Given the description of an element on the screen output the (x, y) to click on. 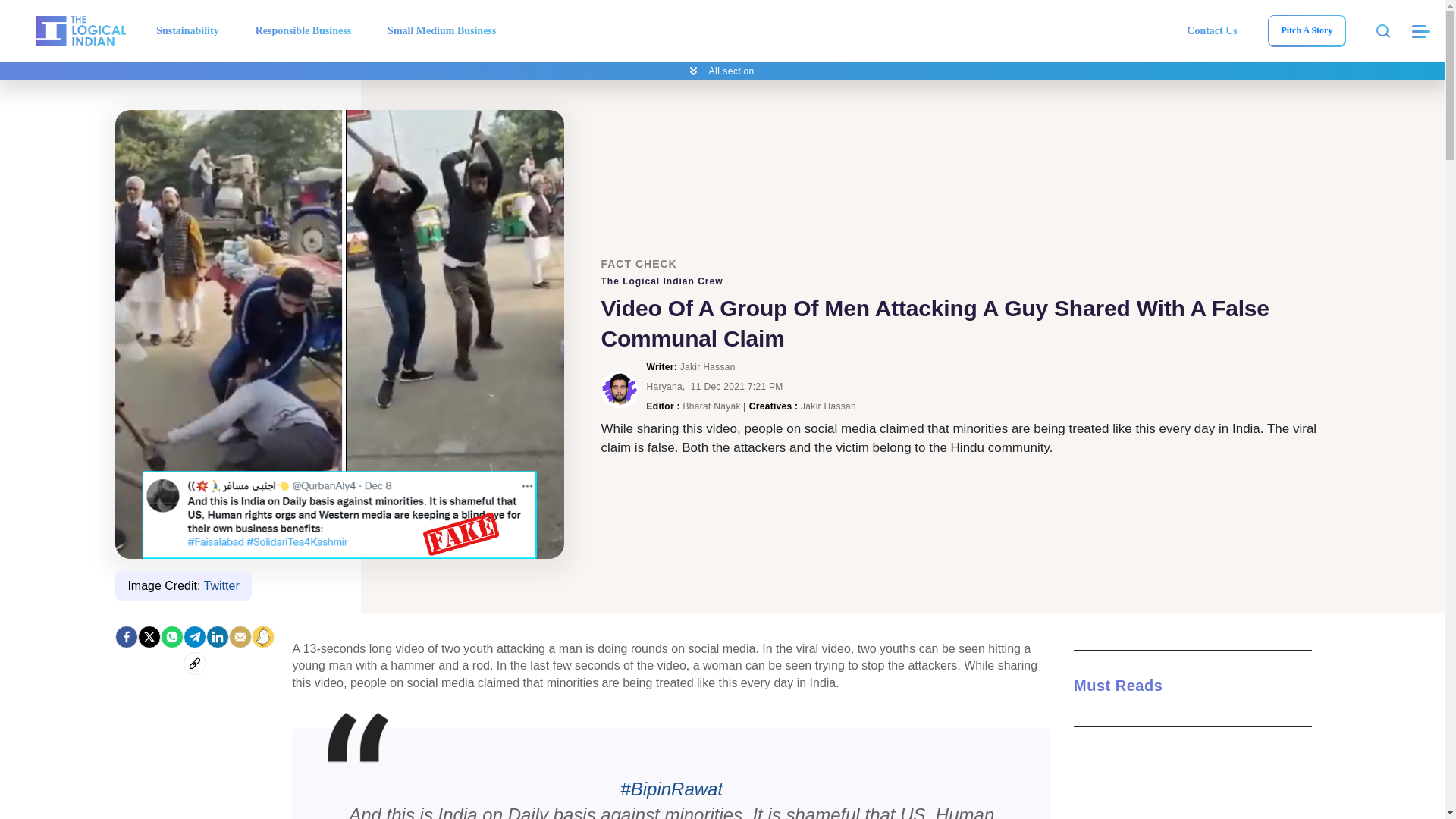
Share by Email (239, 636)
Pitch A Story (1305, 30)
Sustainability (186, 30)
Small Medium Business (441, 30)
Contact Us (1212, 30)
Responsible Business (303, 30)
The Logical Indian (80, 30)
Jakir Hassan (619, 389)
LinkedIn (217, 636)
